Given the description of an element on the screen output the (x, y) to click on. 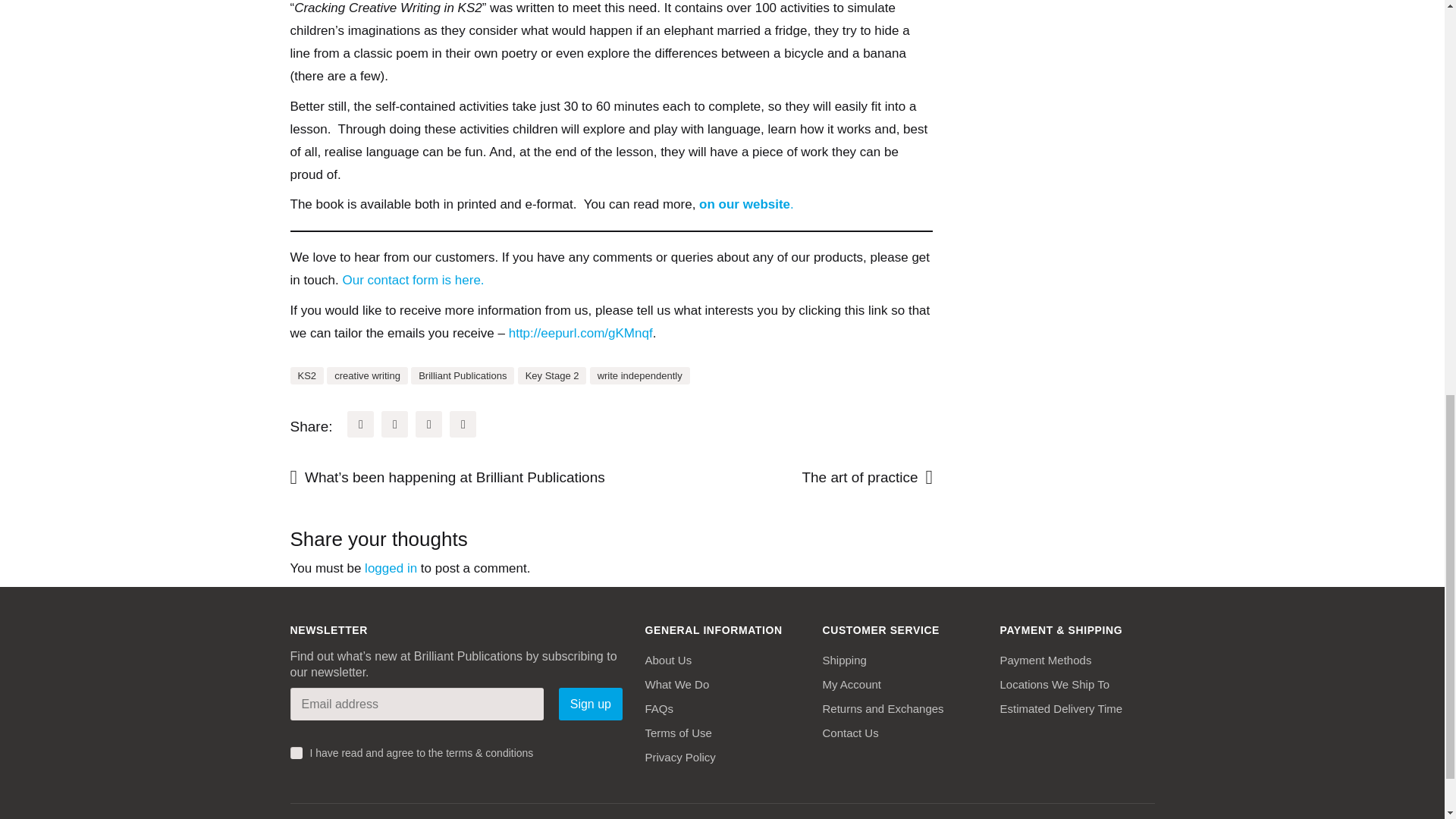
Our contact form is here. (413, 279)
write independently (639, 375)
Sign up (590, 703)
Key Stage 2 (552, 375)
The art of practice (829, 477)
on our website. (745, 204)
creative writing (366, 375)
KS2 (306, 375)
Brilliant Publications (461, 375)
1 (295, 752)
